Given the description of an element on the screen output the (x, y) to click on. 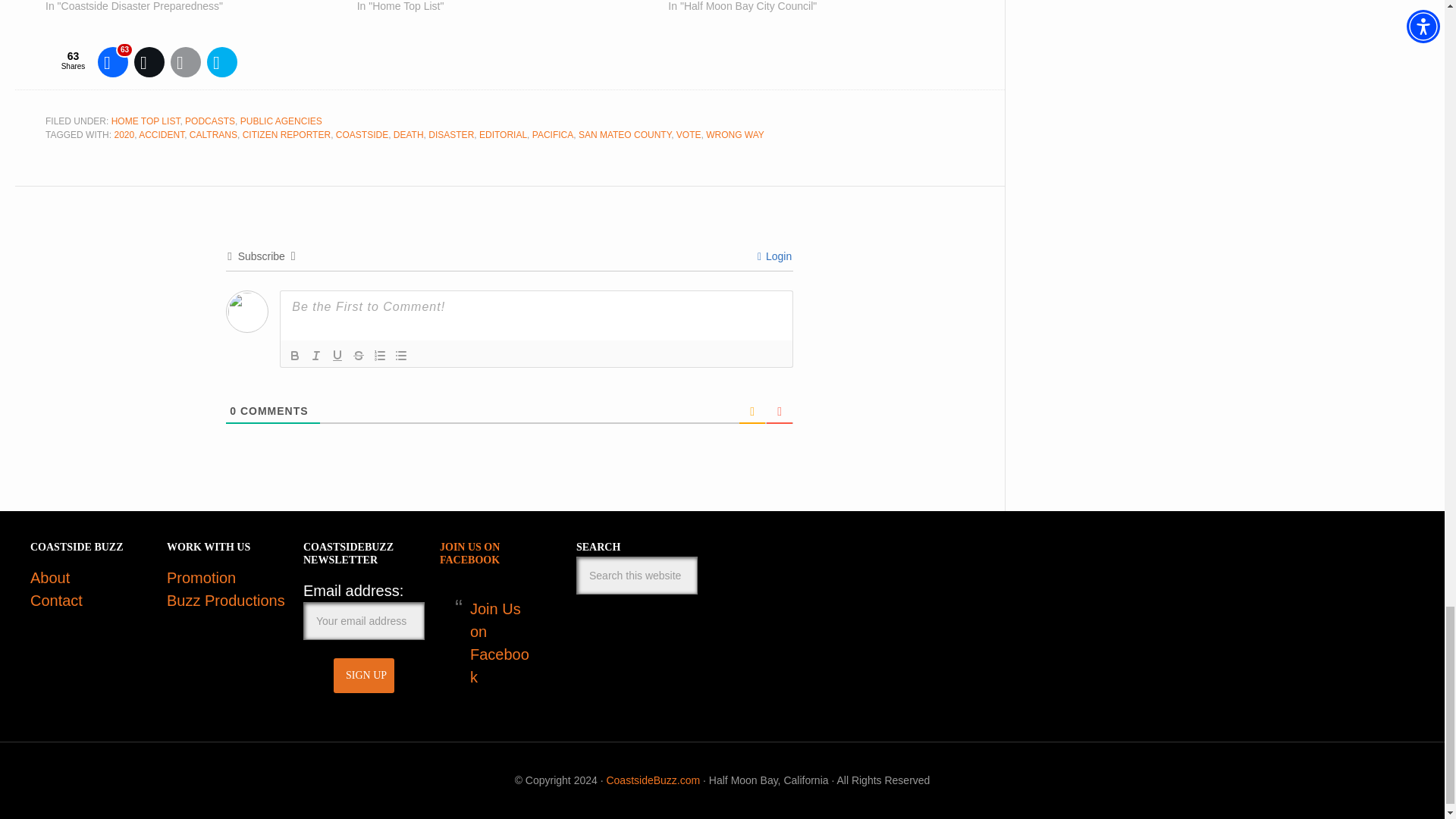
Email This (185, 62)
PrintFriendly (221, 62)
Facebook (112, 62)
Sign up (363, 675)
